Given the description of an element on the screen output the (x, y) to click on. 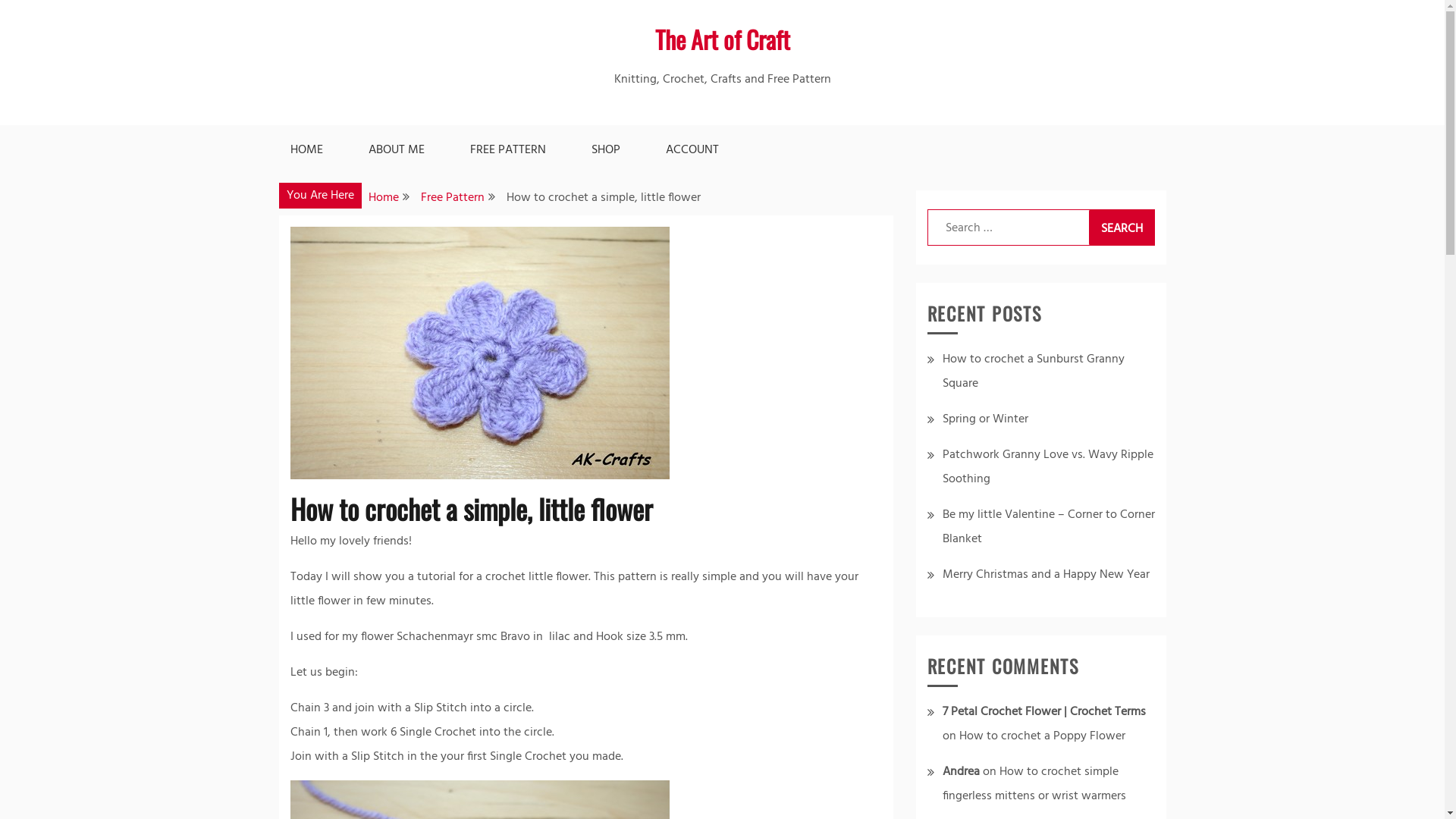
FREE PATTERN Element type: text (508, 150)
How to crochet a Poppy Flower Element type: text (1041, 736)
Search Element type: text (1121, 227)
Merry Christmas and a Happy New Year Element type: text (1044, 574)
Patchwork Granny Love vs. Wavy Ripple Soothing Element type: text (1046, 467)
ACCOUNT Element type: text (691, 150)
How to crochet a Sunburst Granny Square Element type: text (1032, 371)
How to crochet simple fingerless mittens or wrist warmers Element type: text (1033, 784)
7 Petal Crochet Flower | Crochet Terms Element type: text (1043, 711)
Home Element type: text (383, 197)
ABOUT ME Element type: text (396, 150)
Spring or Winter Element type: text (984, 419)
The Art of Craft Element type: text (722, 38)
HOME Element type: text (305, 150)
SHOP Element type: text (605, 150)
Andrea Element type: text (960, 771)
Free Pattern Element type: text (451, 197)
